Given the description of an element on the screen output the (x, y) to click on. 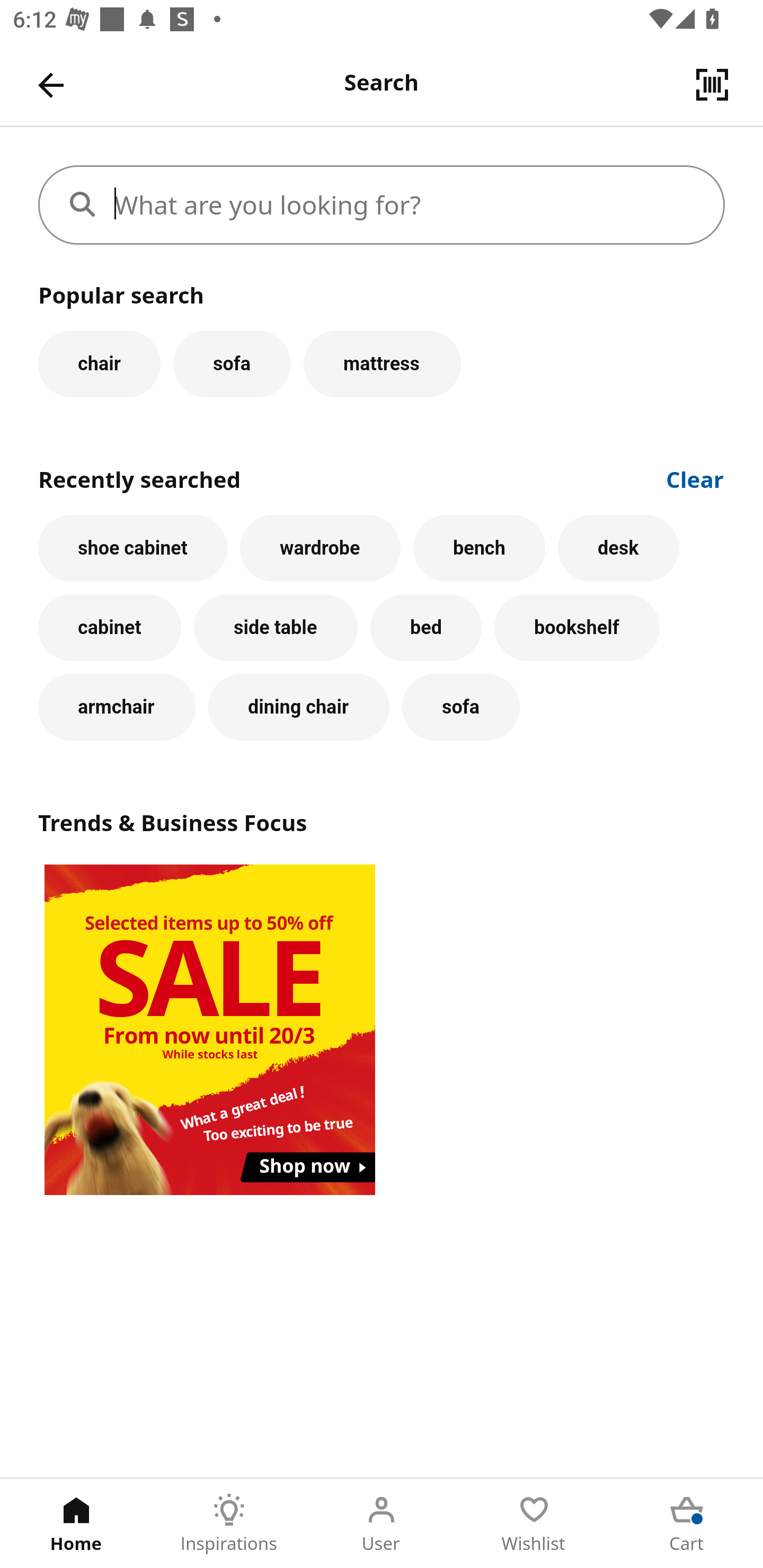
chair (99, 363)
sofa (231, 363)
mattress (381, 363)
Clear (695, 477)
shoe cabinet (132, 547)
wardrobe (320, 547)
bench (479, 547)
desk (618, 547)
cabinet (109, 627)
side table (275, 627)
bed (425, 627)
bookshelf (576, 627)
armchair (116, 707)
dining chair (298, 707)
sofa (460, 707)
Home
Tab 1 of 5 (76, 1522)
Inspirations
Tab 2 of 5 (228, 1522)
User
Tab 3 of 5 (381, 1522)
Wishlist
Tab 4 of 5 (533, 1522)
Cart
Tab 5 of 5 (686, 1522)
